Given the description of an element on the screen output the (x, y) to click on. 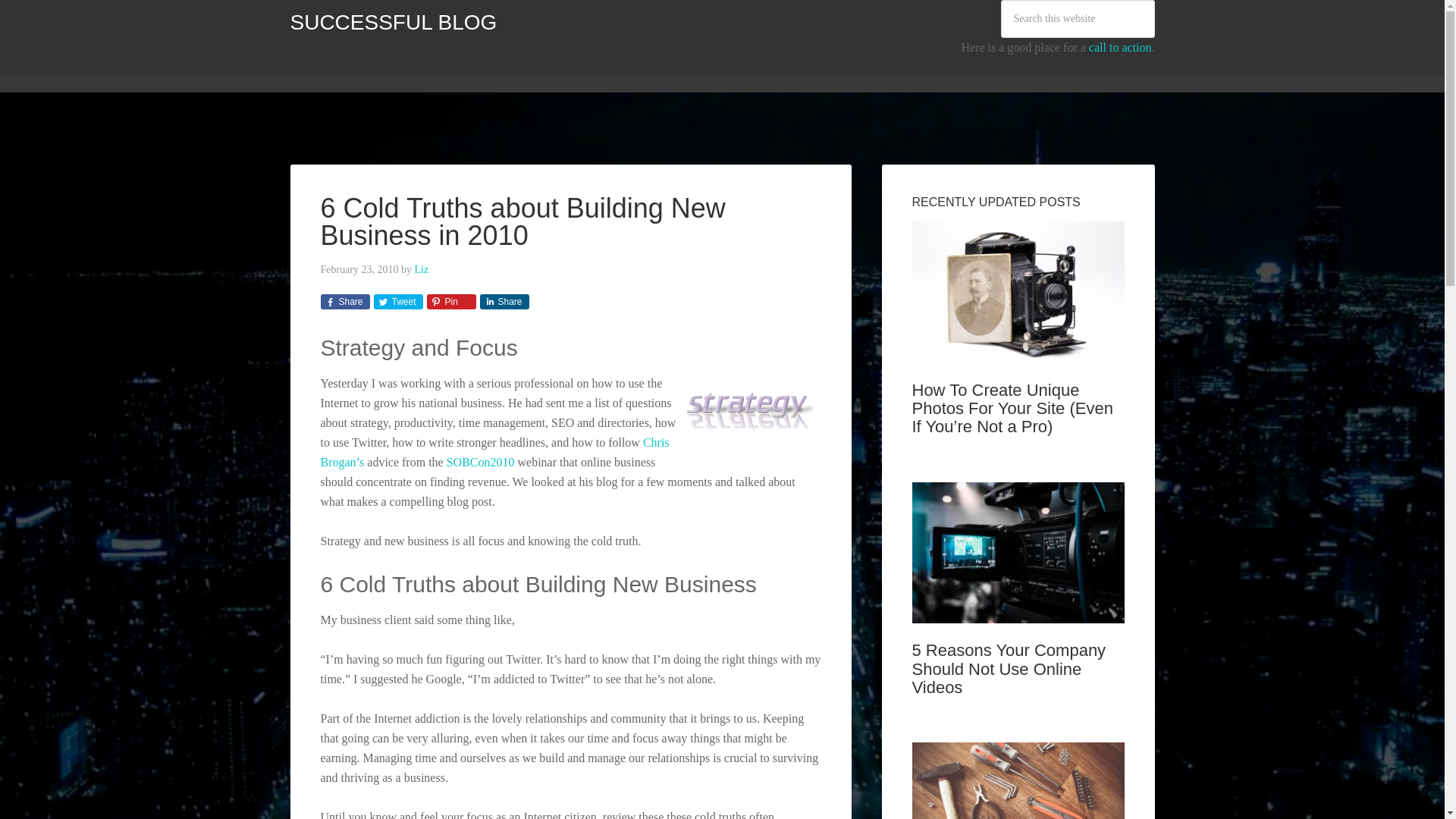
SOBCon2010 (480, 461)
Pin (451, 301)
Home (315, 68)
Liz (421, 269)
Stay Tuned (707, 68)
About (452, 68)
Author Guidelines (535, 68)
Community (384, 68)
5 Reasons Your Company Should Not Use Online Videos (1008, 668)
Tweet (397, 301)
